Given the description of an element on the screen output the (x, y) to click on. 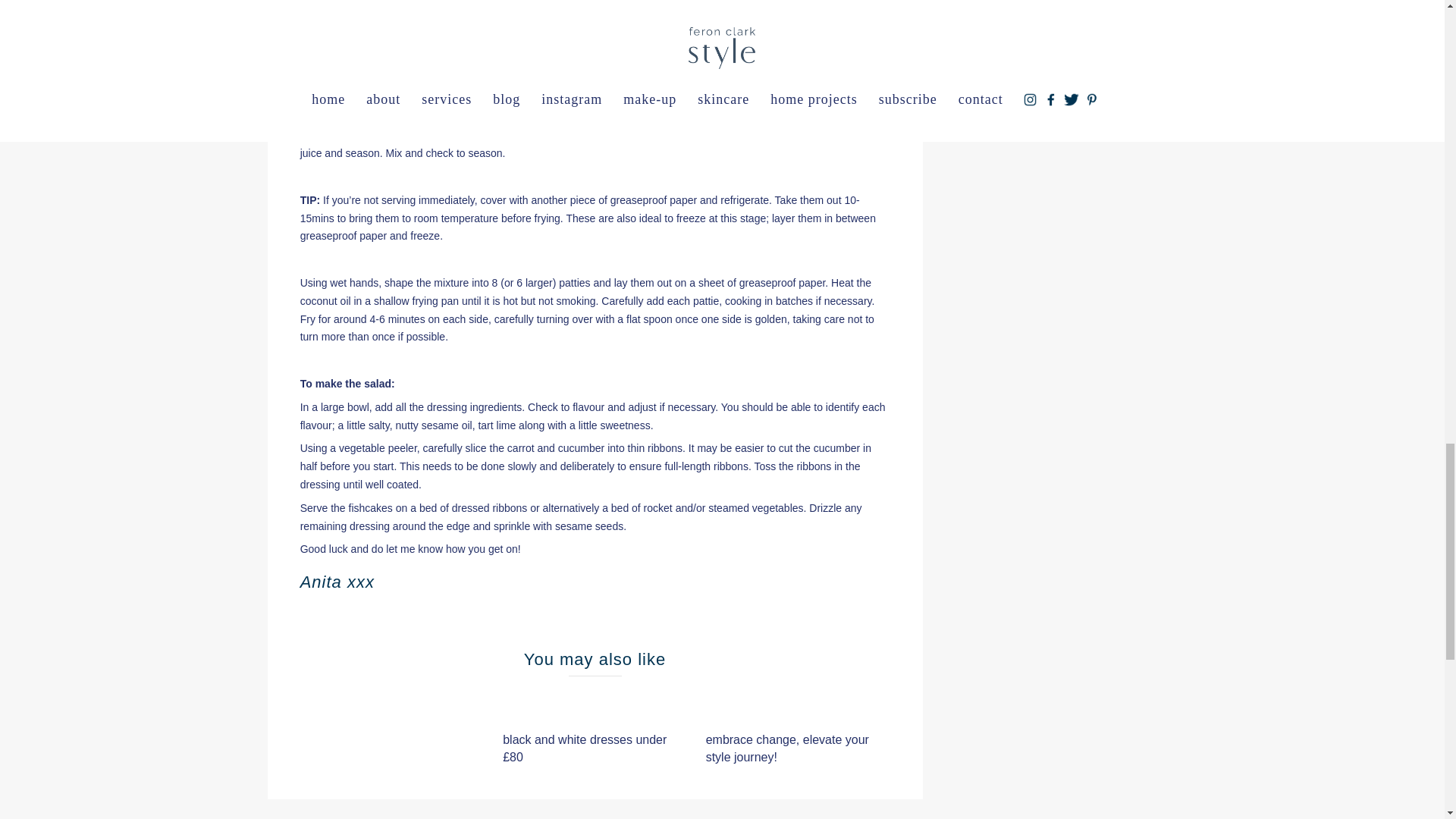
embrace change, elevate your style journey!  (787, 747)
